Given the description of an element on the screen output the (x, y) to click on. 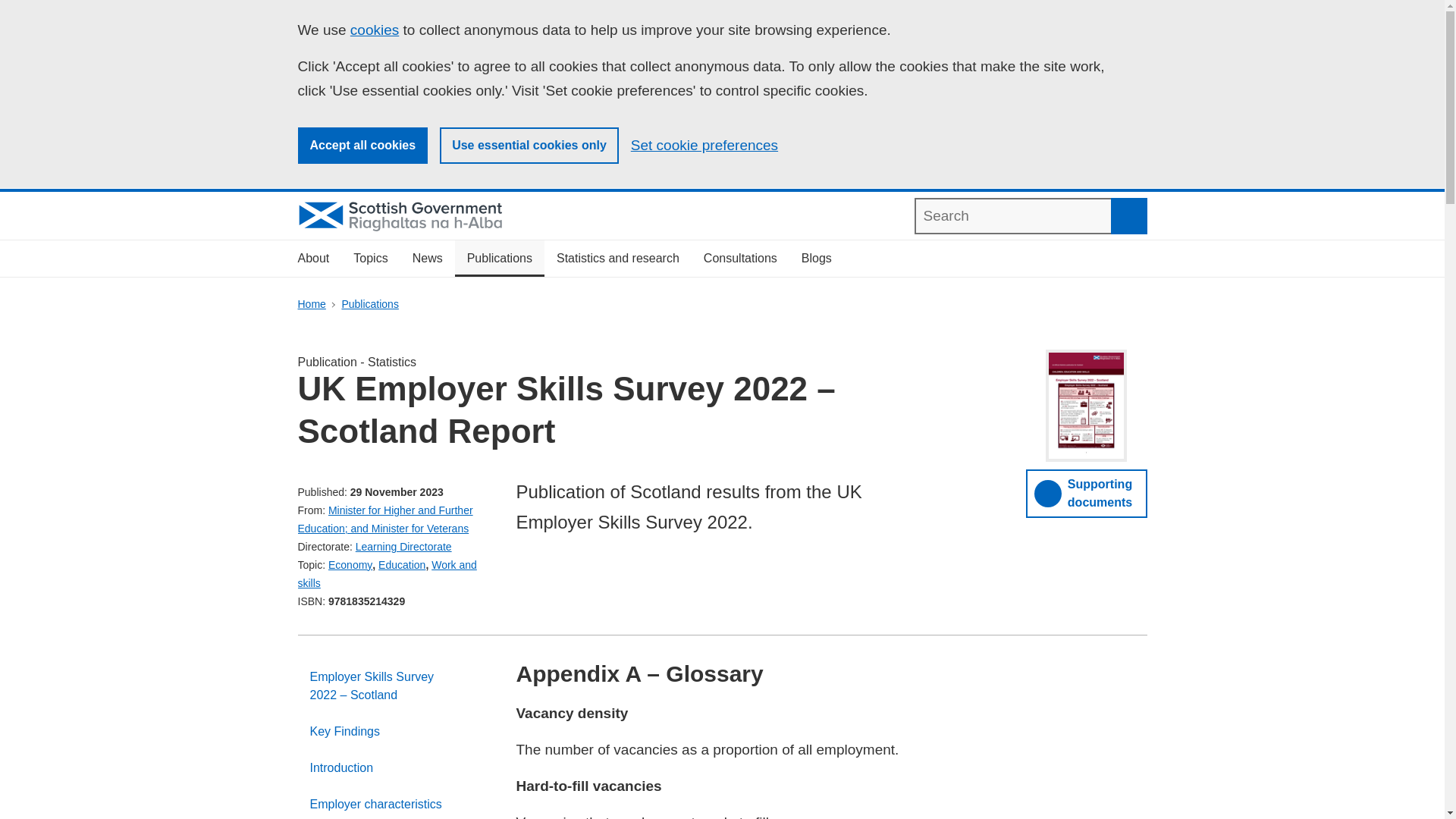
Learning Directorate (403, 546)
Education (401, 564)
News (427, 258)
Supporting documents (1086, 493)
Use essential cookies only (528, 145)
Introduction (394, 767)
Topics (369, 258)
Blogs (816, 258)
Publications (369, 304)
cookies (374, 29)
Consultations (740, 258)
Statistics and research (617, 258)
Home (310, 304)
Set cookie preferences (703, 145)
